Given the description of an element on the screen output the (x, y) to click on. 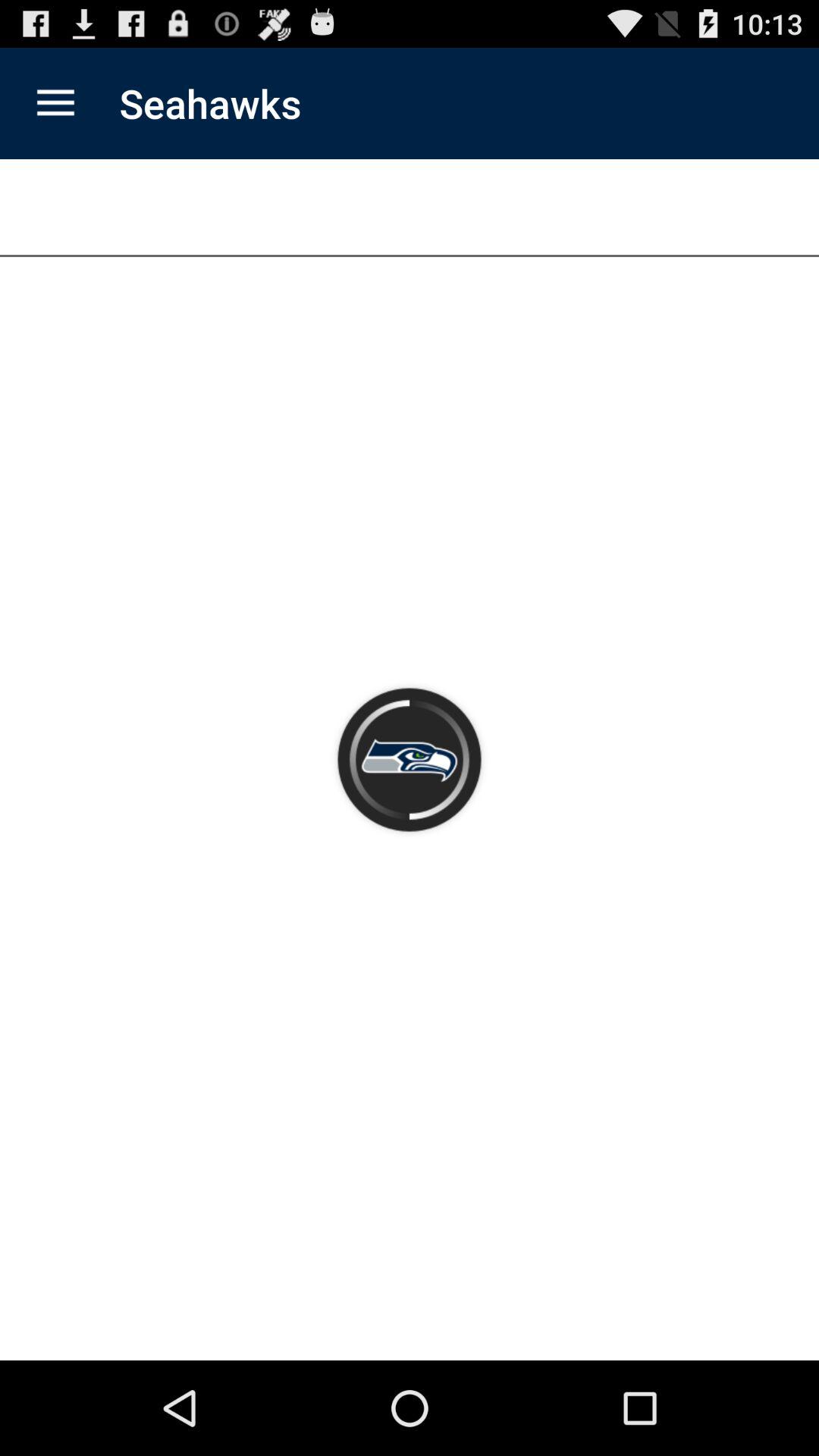
click the app next to the seahawks app (55, 103)
